Given the description of an element on the screen output the (x, y) to click on. 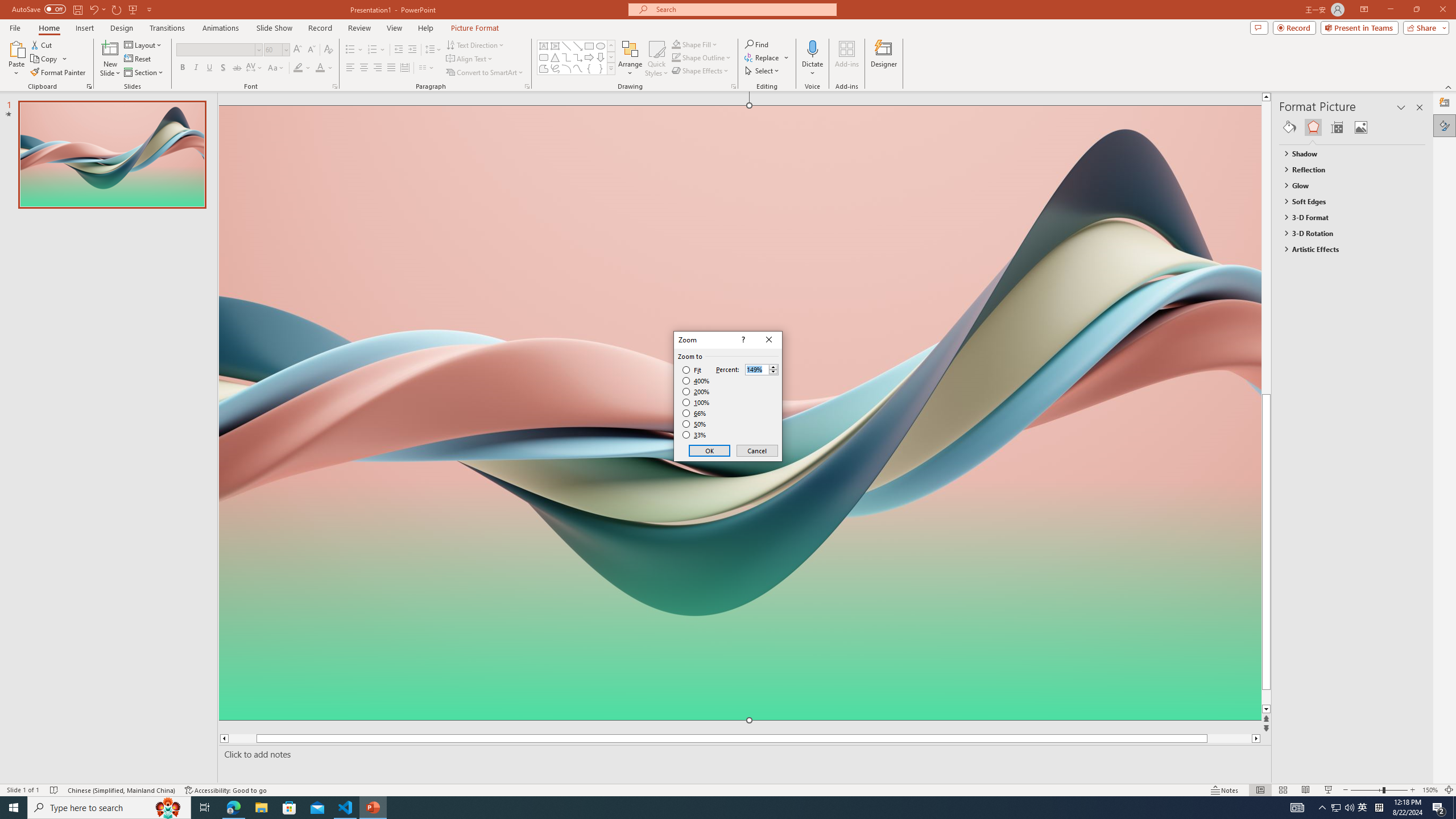
Italic (195, 67)
PowerPoint - 1 running window (373, 807)
Artistic Effects (1347, 248)
Oval (600, 45)
Decrease Indent (398, 49)
Shapes (611, 68)
Format Picture (1444, 125)
Underline (209, 67)
